Given the description of an element on the screen output the (x, y) to click on. 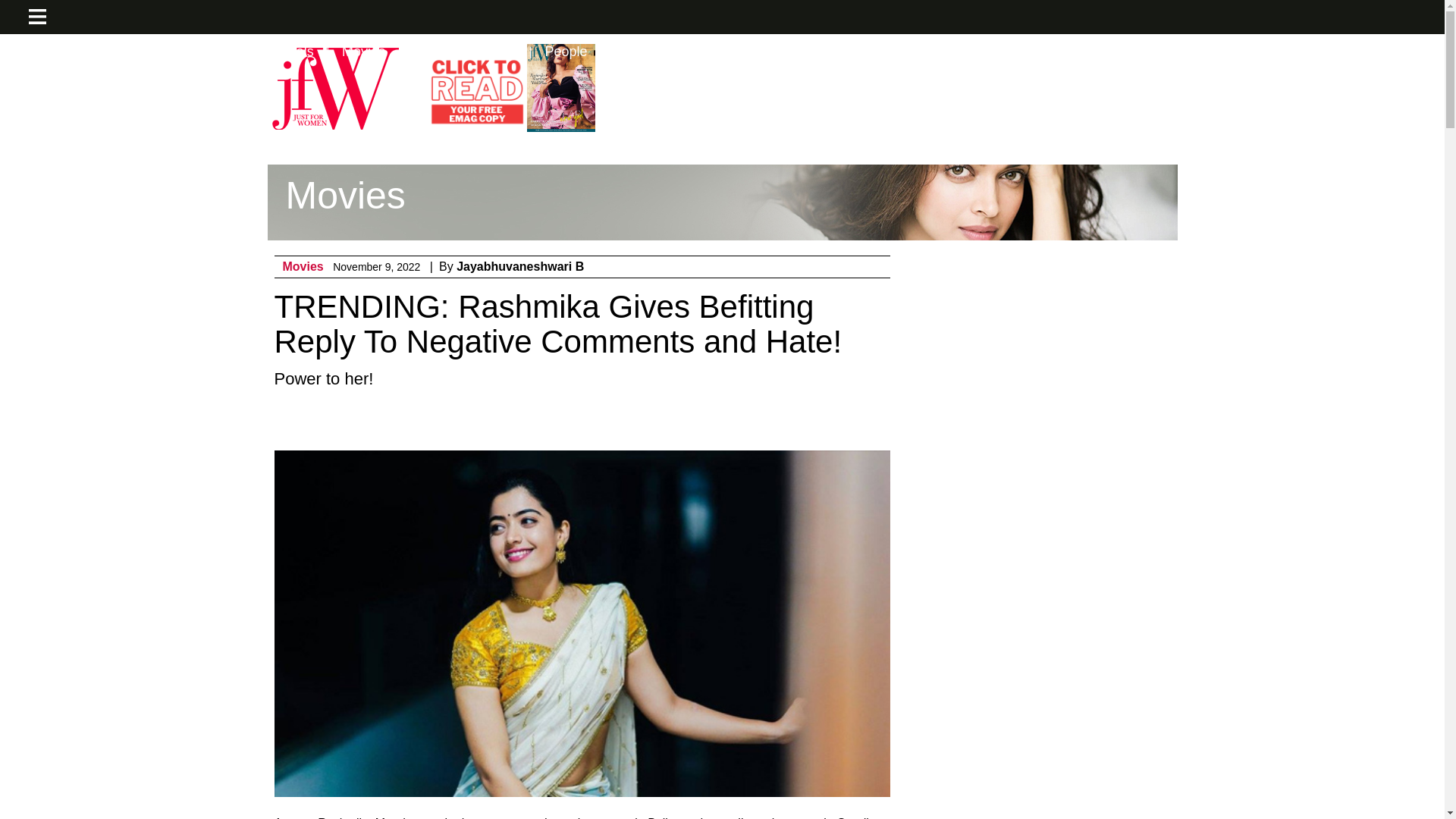
Movies (302, 266)
Movies (363, 52)
JFW Events (166, 52)
JFW Originals (271, 52)
Share with Friend (678, 421)
Fashion (76, 52)
People (565, 52)
Movies (302, 266)
